Given the description of an element on the screen output the (x, y) to click on. 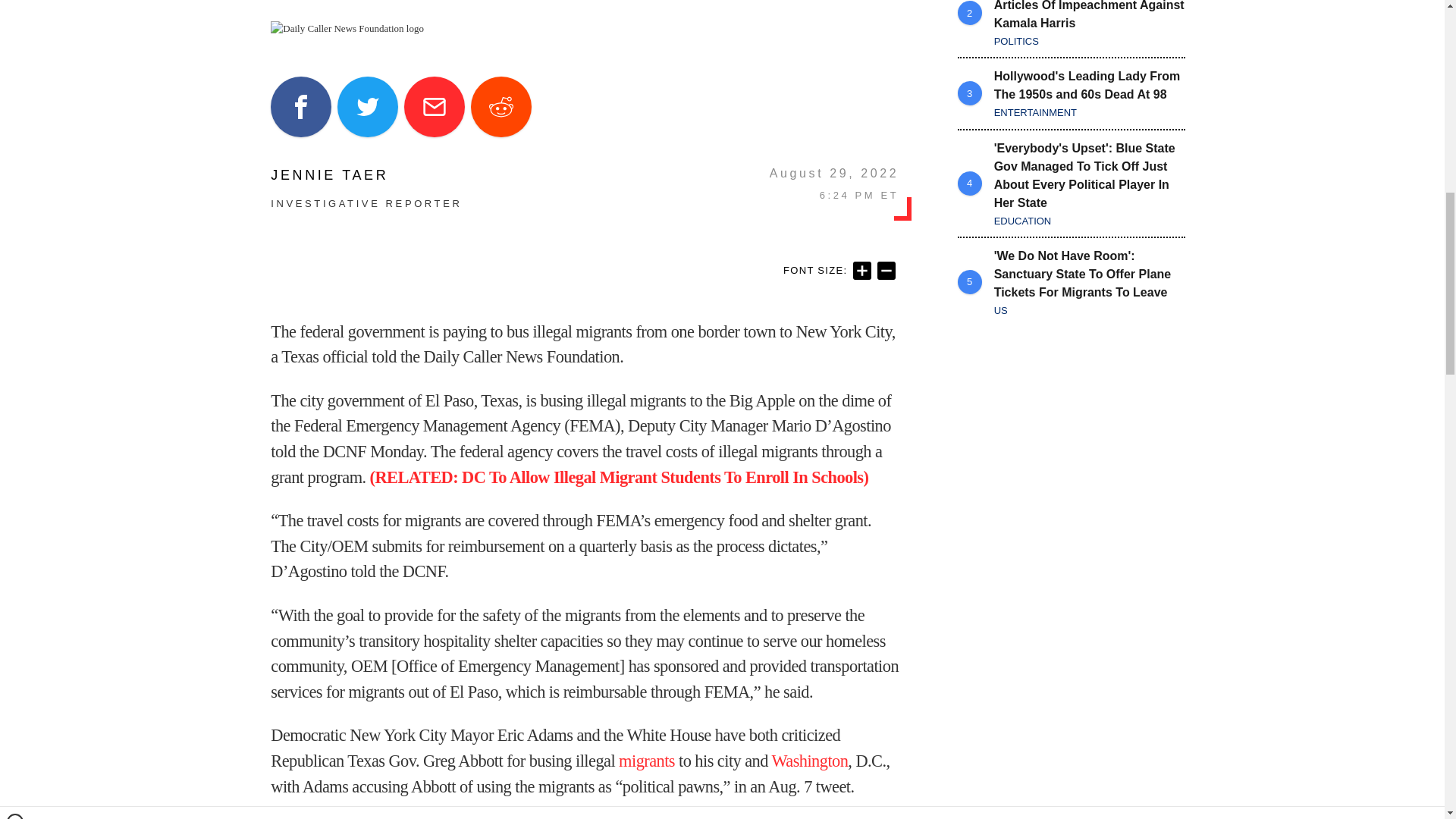
View More Articles By Jennie Taer (365, 175)
Close window (14, 6)
migrants (646, 760)
JENNIE TAER (365, 175)
